Given the description of an element on the screen output the (x, y) to click on. 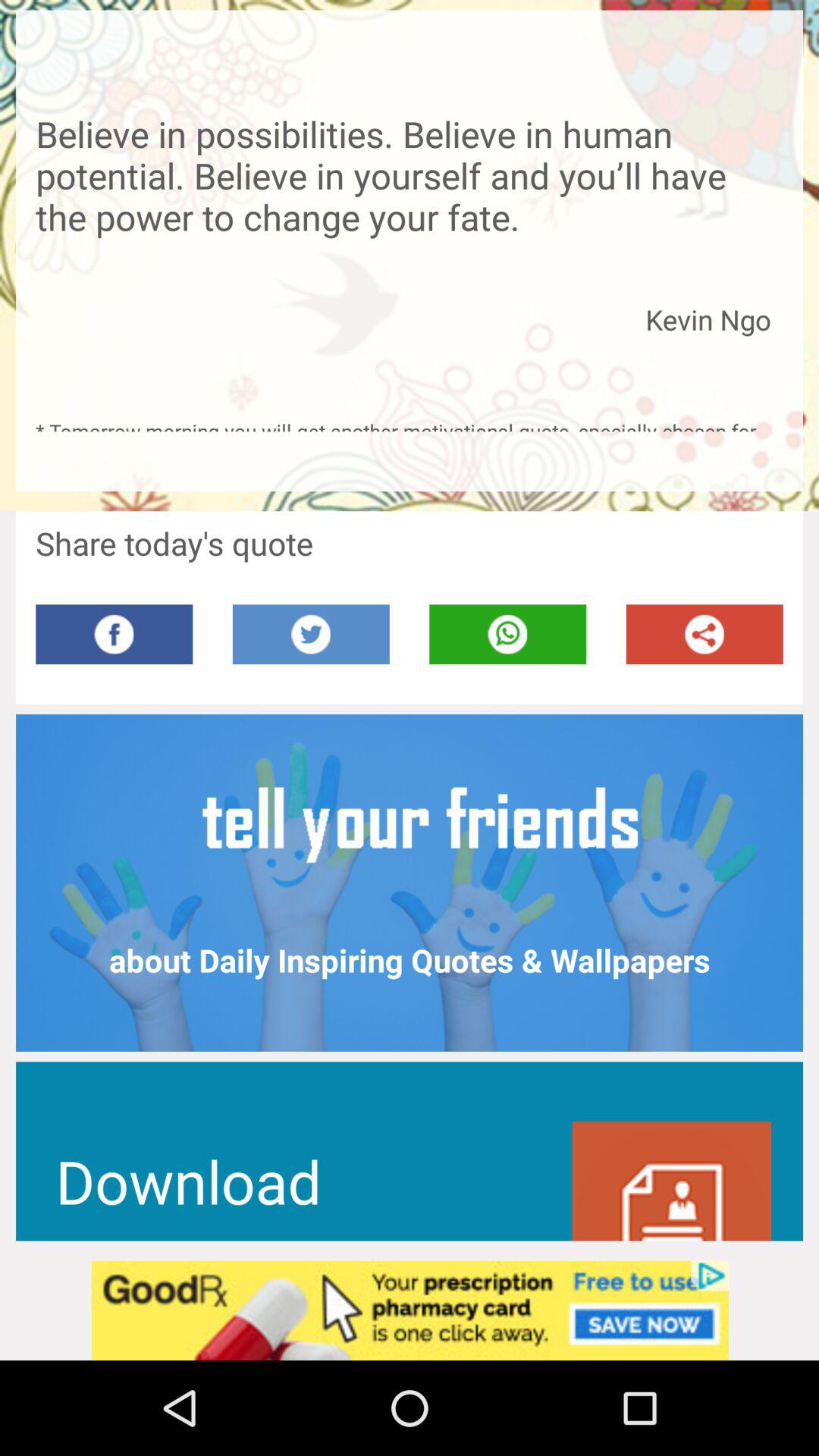
advertisement page (409, 1310)
